Given the description of an element on the screen output the (x, y) to click on. 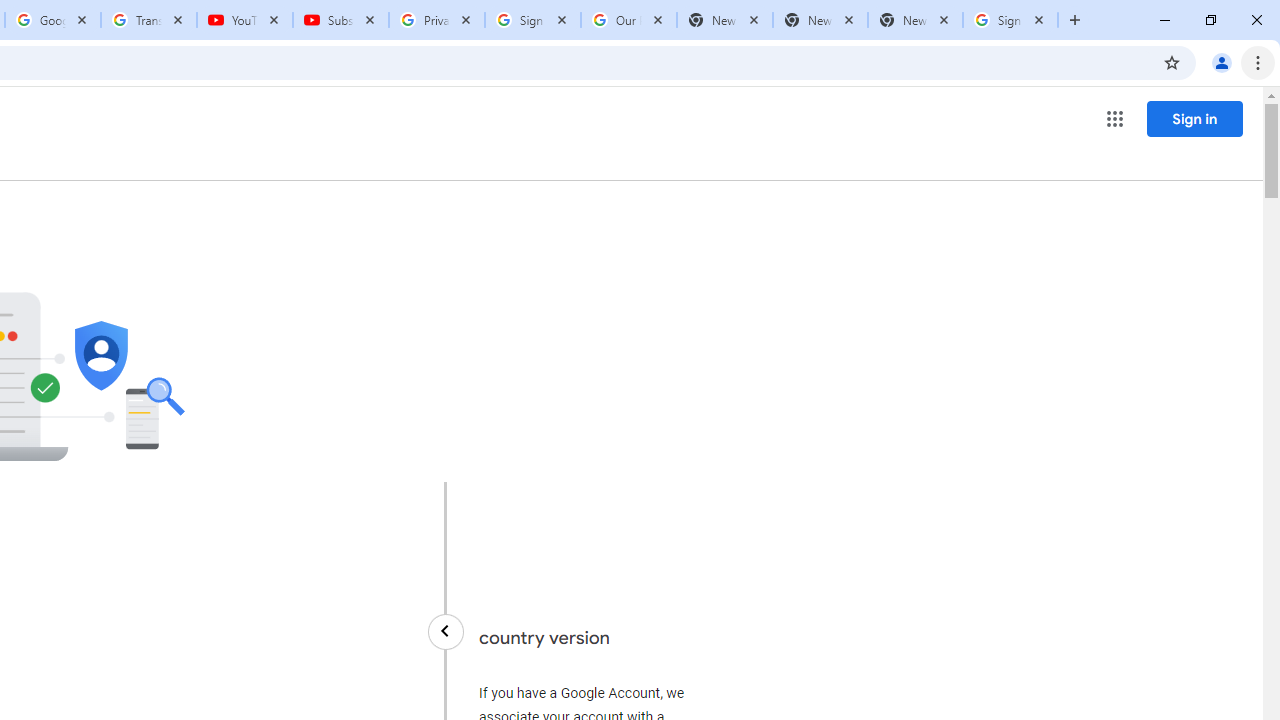
Sign in - Google Accounts (533, 20)
New Tab (914, 20)
Sign in - Google Accounts (1010, 20)
YouTube (245, 20)
